Given the description of an element on the screen output the (x, y) to click on. 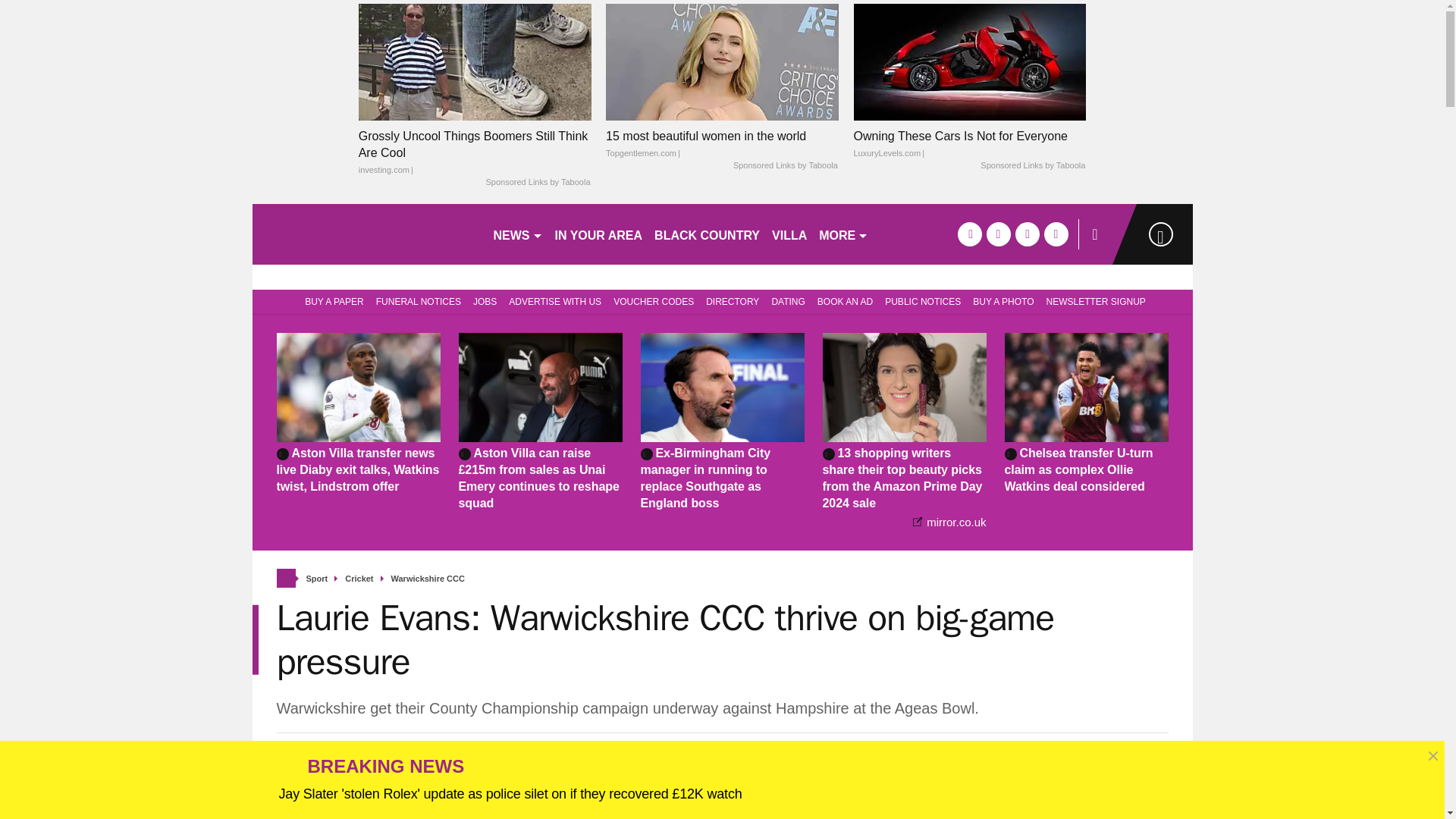
twitter (997, 233)
Owning These Cars Is Not for Everyone (969, 144)
instagram (1055, 233)
Sponsored Links by Taboola (785, 165)
Grossly Uncool Things Boomers Still Think Are Cool (474, 61)
birminghammail (365, 233)
BLACK COUNTRY (706, 233)
NEWS (517, 233)
tiktok (1026, 233)
MORE (843, 233)
Twitter (999, 764)
Facebook (962, 764)
Sponsored Links by Taboola (1031, 165)
Sponsored Links by Taboola (536, 182)
Grossly Uncool Things Boomers Still Think Are Cool (474, 152)
